Given the description of an element on the screen output the (x, y) to click on. 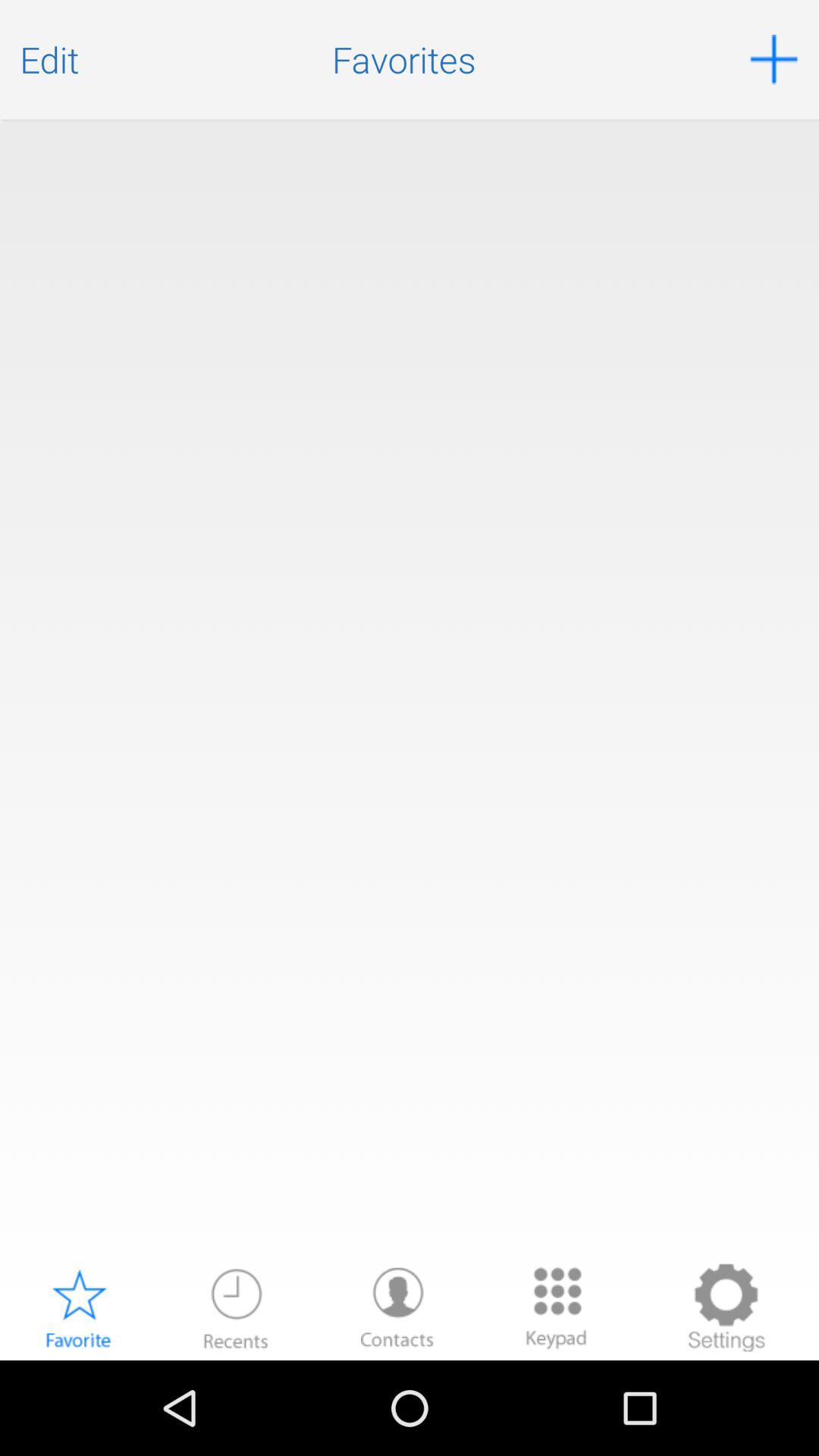
mark as favorite (78, 1307)
